Given the description of an element on the screen output the (x, y) to click on. 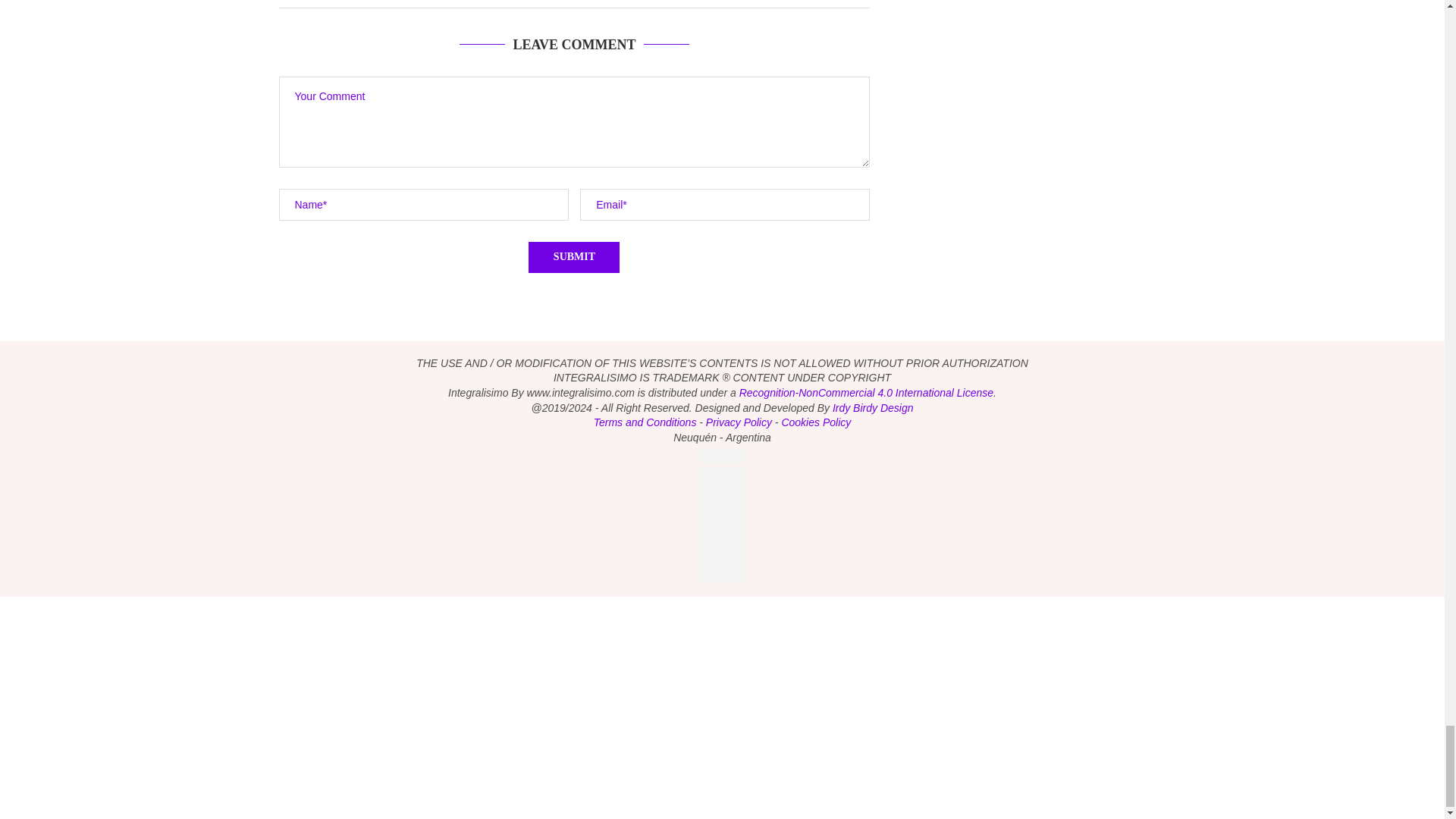
Submit (574, 256)
